Given the description of an element on the screen output the (x, y) to click on. 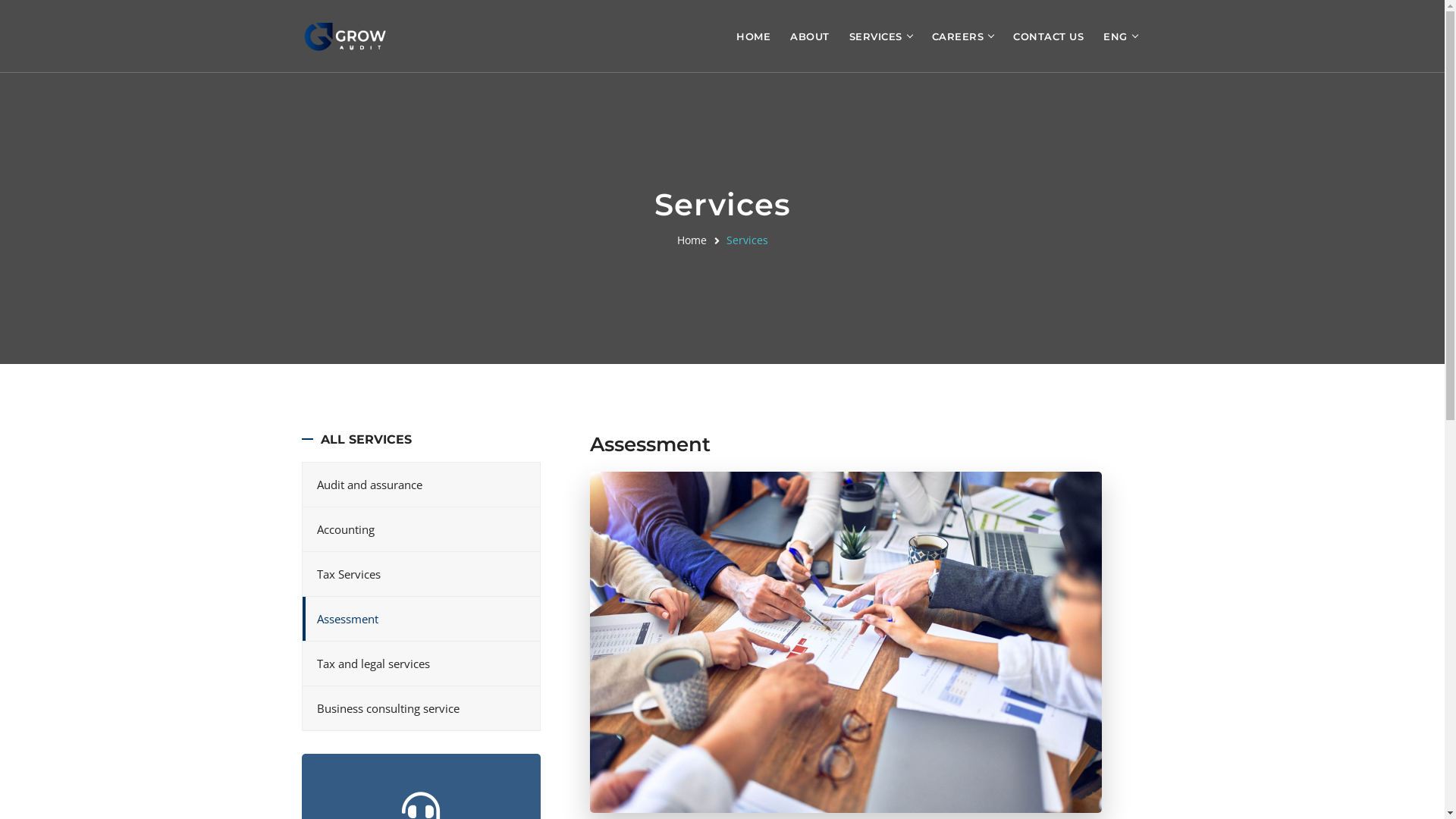
Business consulting service Element type: text (420, 708)
SERVICES Element type: text (875, 35)
Tax Services Element type: text (420, 574)
Assessment Element type: text (420, 618)
Services Element type: text (747, 239)
Home Element type: text (691, 239)
Audit and assurance Element type: text (420, 484)
CONTACT US Element type: text (1048, 35)
Accounting Element type: text (420, 529)
Tax and legal services Element type: text (420, 663)
ABOUT Element type: text (809, 35)
ENG Element type: text (1115, 35)
HOME Element type: text (753, 35)
CAREERS Element type: text (957, 35)
